Given the description of an element on the screen output the (x, y) to click on. 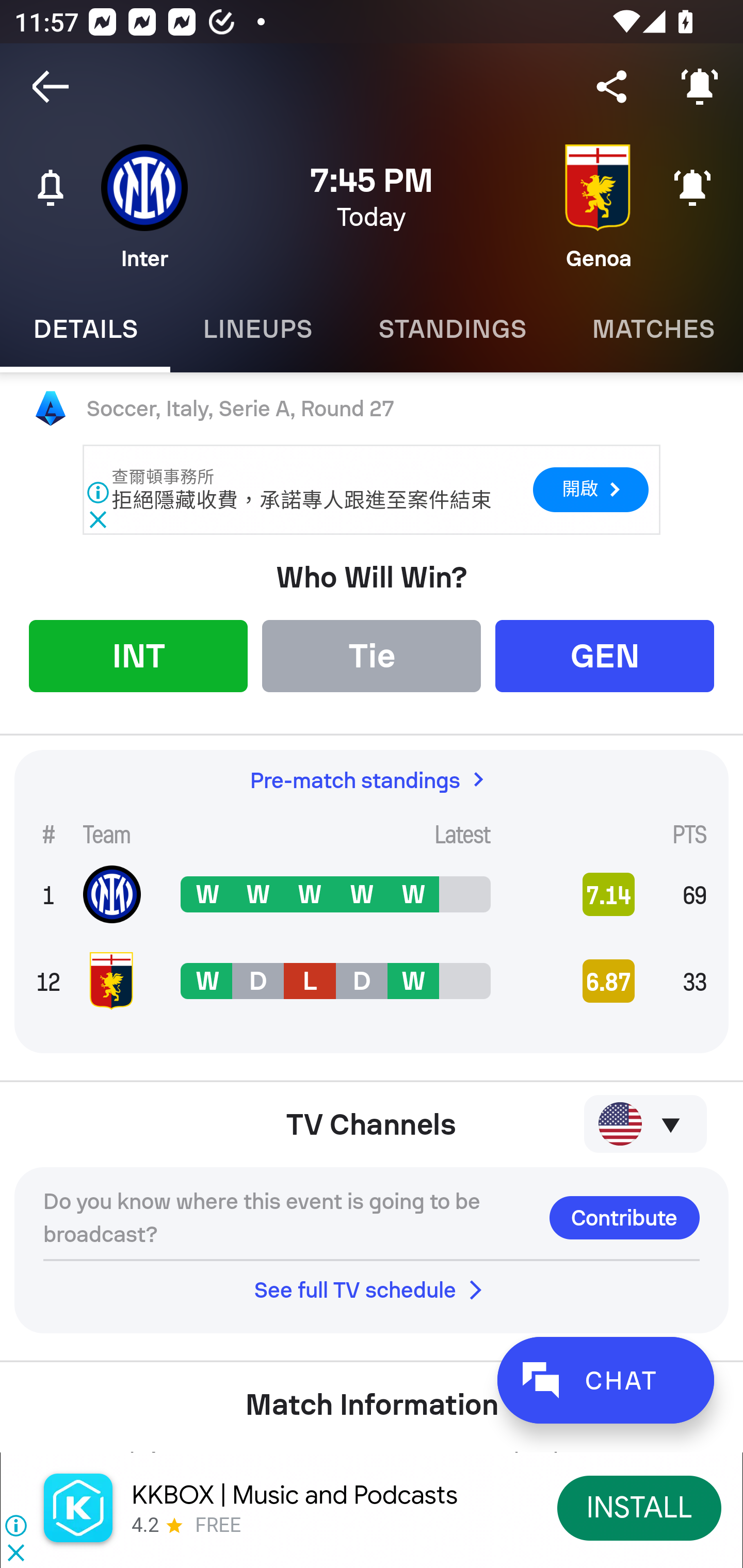
Navigate up (50, 86)
Lineups LINEUPS (257, 329)
Standings STANDINGS (451, 329)
Matches MATCHES (650, 329)
Soccer, Italy, Serie A, Round 27 (371, 409)
查爾頓事務所 (163, 476)
開啟 (590, 488)
拒絕隱藏收費，承諾專人跟進至案件結束 (301, 499)
INT (137, 655)
Tie (371, 655)
GEN (604, 655)
Contribute (624, 1217)
See full TV schedule (371, 1289)
CHAT (605, 1380)
INSTALL (639, 1507)
KKBOX | Music and Podcasts (294, 1494)
